Given the description of an element on the screen output the (x, y) to click on. 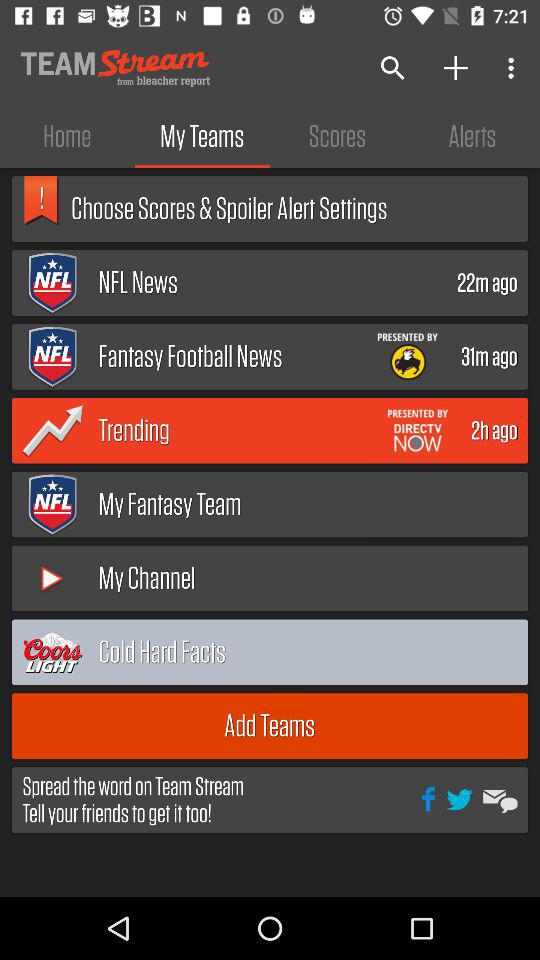
advertisement (417, 430)
